Given the description of an element on the screen output the (x, y) to click on. 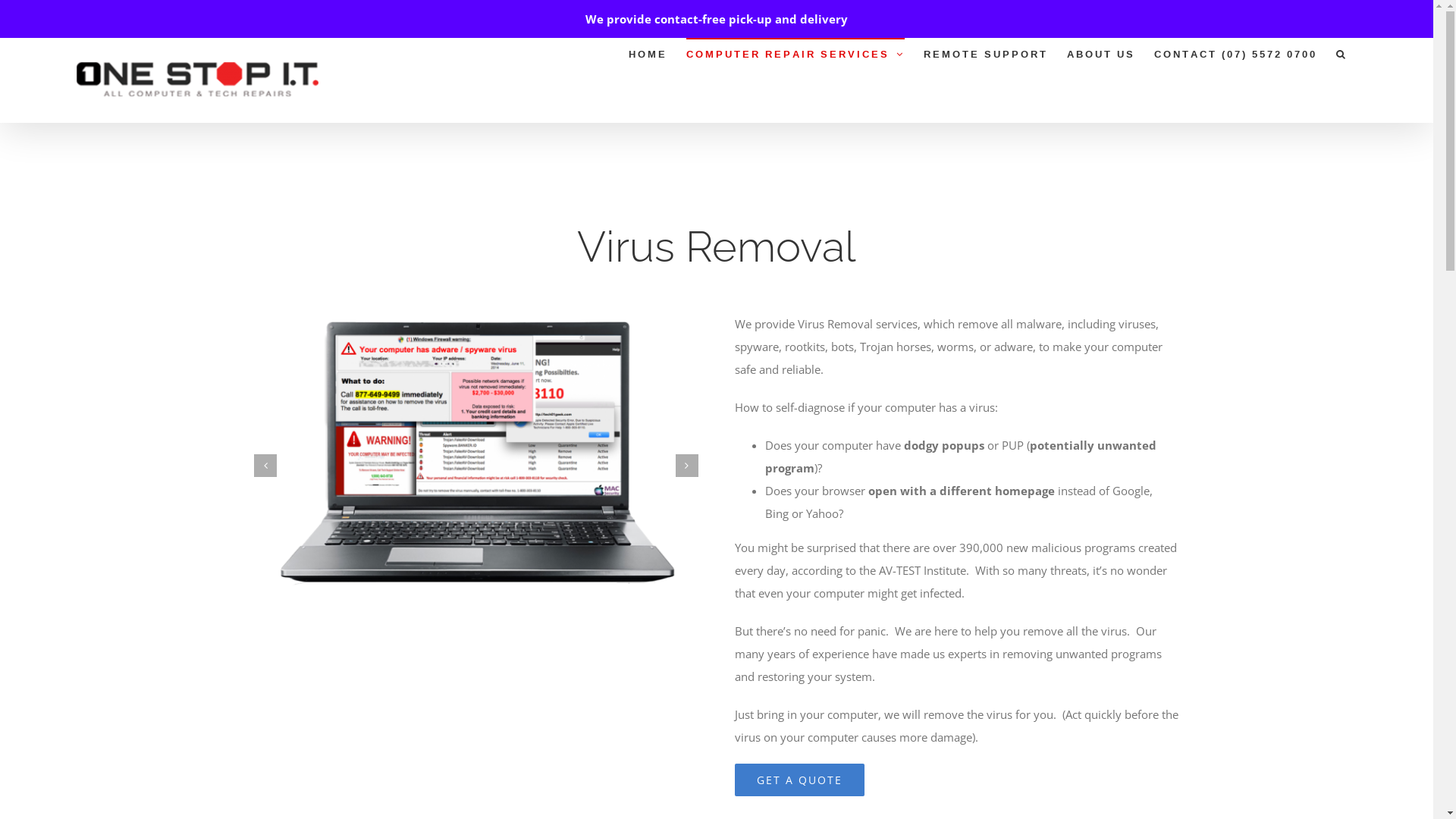
CONTACT (07) 5572 0700 Element type: text (1235, 52)
GET A QUOTE Element type: text (799, 779)
Search Element type: hover (1341, 52)
REMOTE SUPPORT Element type: text (985, 52)
HOME Element type: text (647, 52)
ABOUT US Element type: text (1100, 52)
COMPUTER REPAIR SERVICES Element type: text (795, 52)
